Given the description of an element on the screen output the (x, y) to click on. 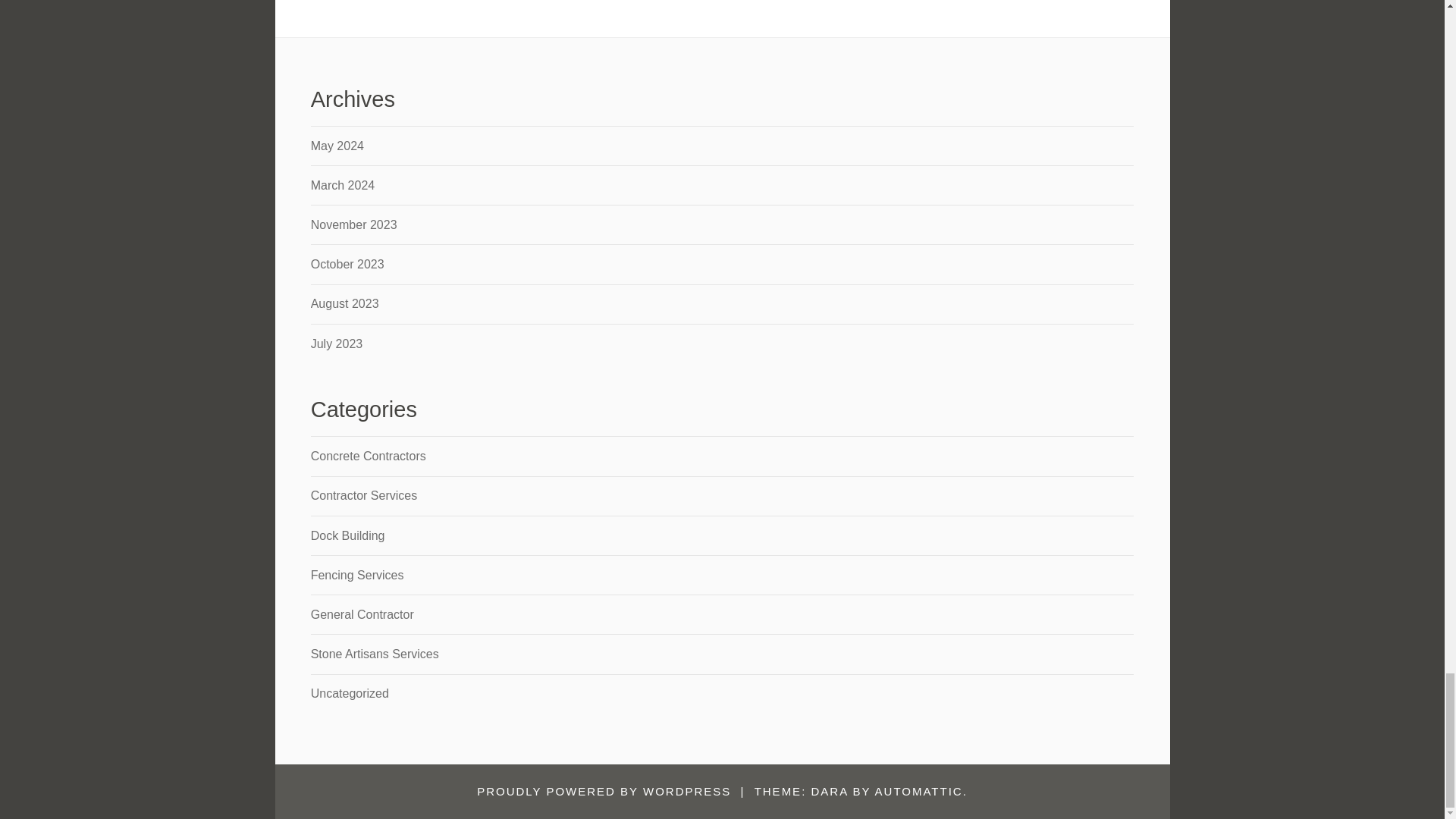
November 2023 (354, 224)
Contractor Services (364, 495)
Dock Building (348, 535)
AUTOMATTIC (918, 790)
General Contractor (362, 614)
August 2023 (344, 303)
PROUDLY POWERED BY WORDPRESS (603, 790)
May 2024 (337, 145)
July 2023 (336, 343)
Concrete Contractors (368, 455)
Uncategorized (349, 693)
Stone Artisans Services (375, 653)
March 2024 (343, 185)
October 2023 (347, 264)
Fencing Services (357, 574)
